Given the description of an element on the screen output the (x, y) to click on. 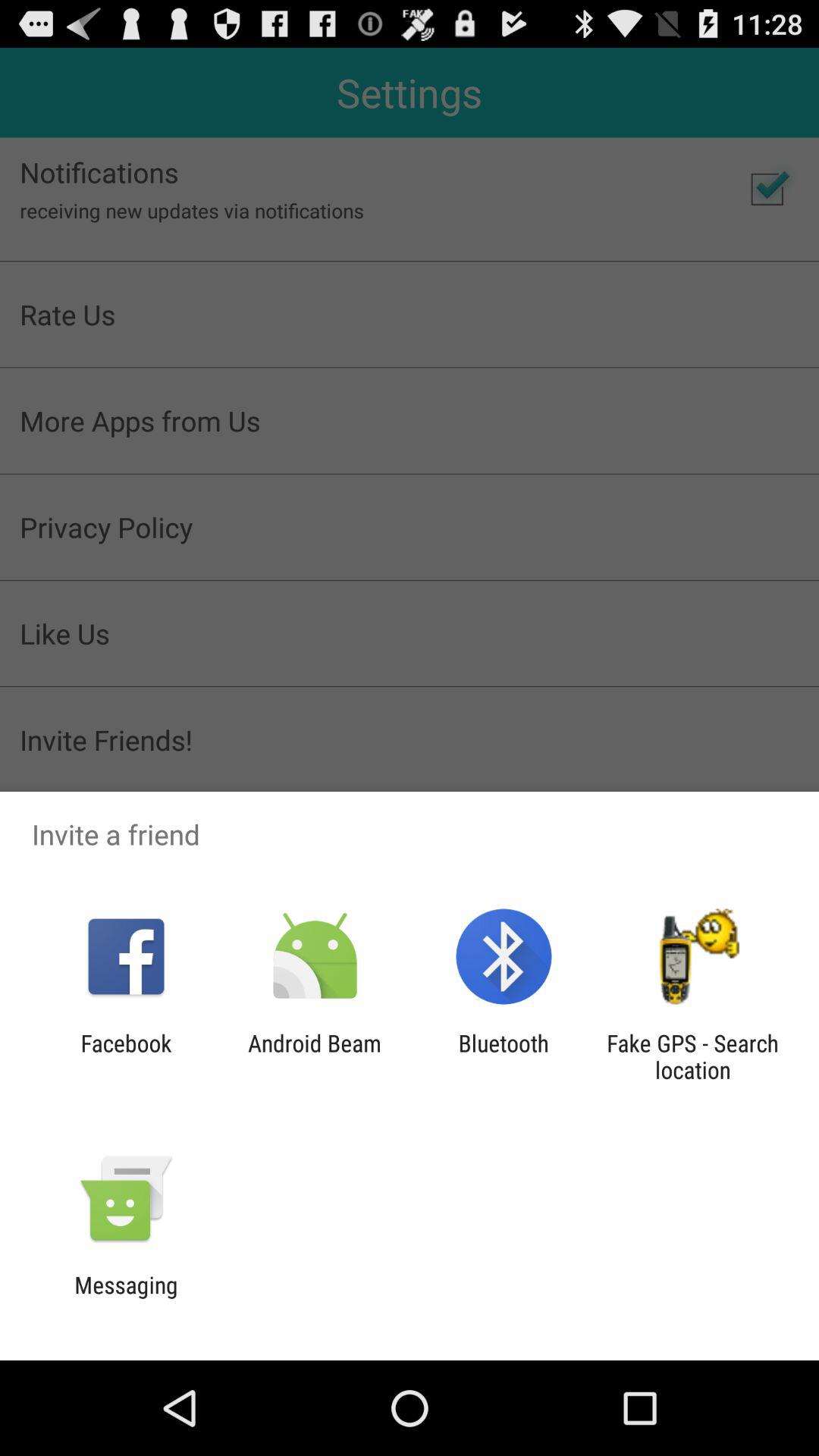
turn off the app to the right of the android beam (503, 1056)
